Given the description of an element on the screen output the (x, y) to click on. 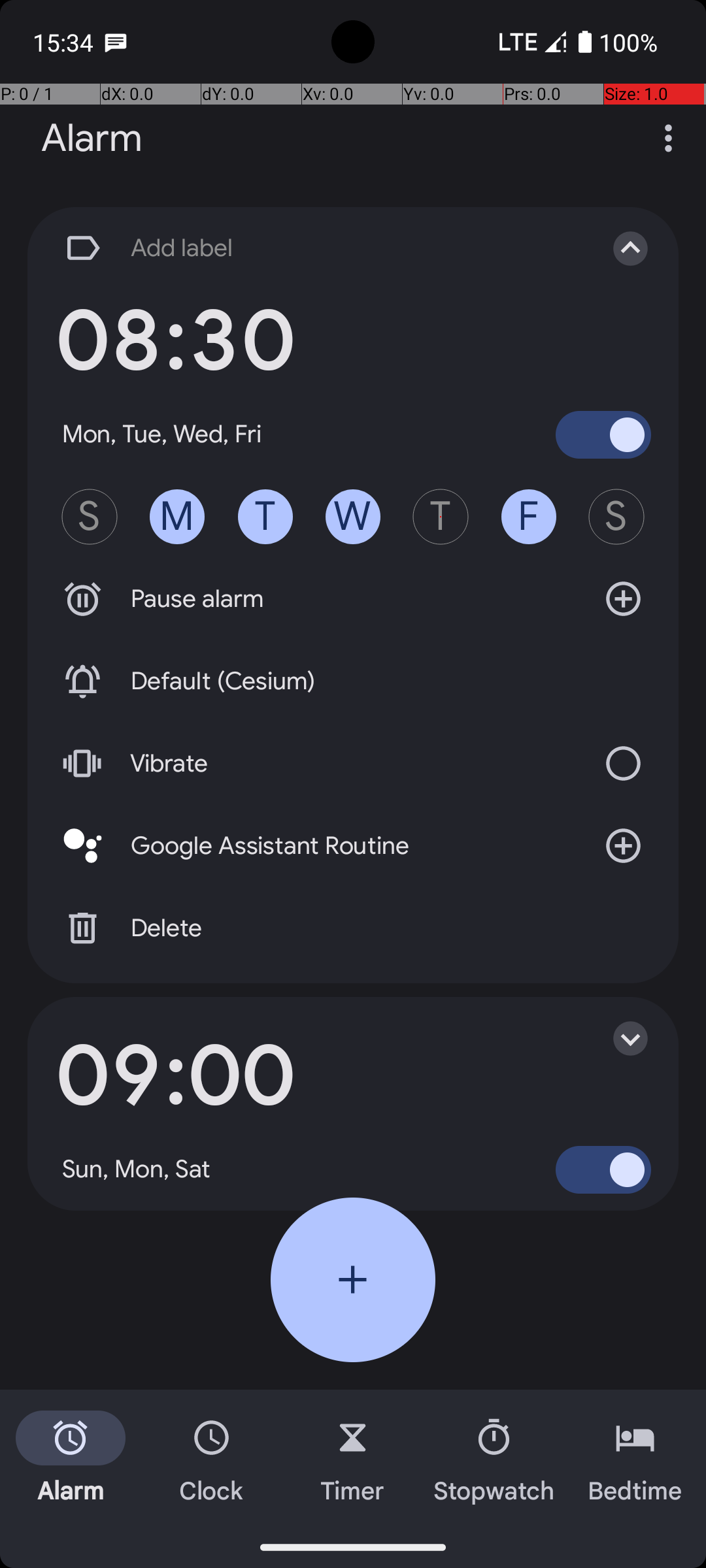
Add label Element type: android.widget.TextView (318, 248)
Collapse alarm Element type: android.widget.ImageButton (616, 248)
Mon, Tue, Wed, Fri Element type: android.widget.TextView (161, 433)
Pause alarm Element type: android.widget.TextView (352, 598)
Google Assistant Routine Element type: android.widget.TextView (352, 845)
Sun, Mon, Sat Element type: android.widget.TextView (136, 1169)
